Given the description of an element on the screen output the (x, y) to click on. 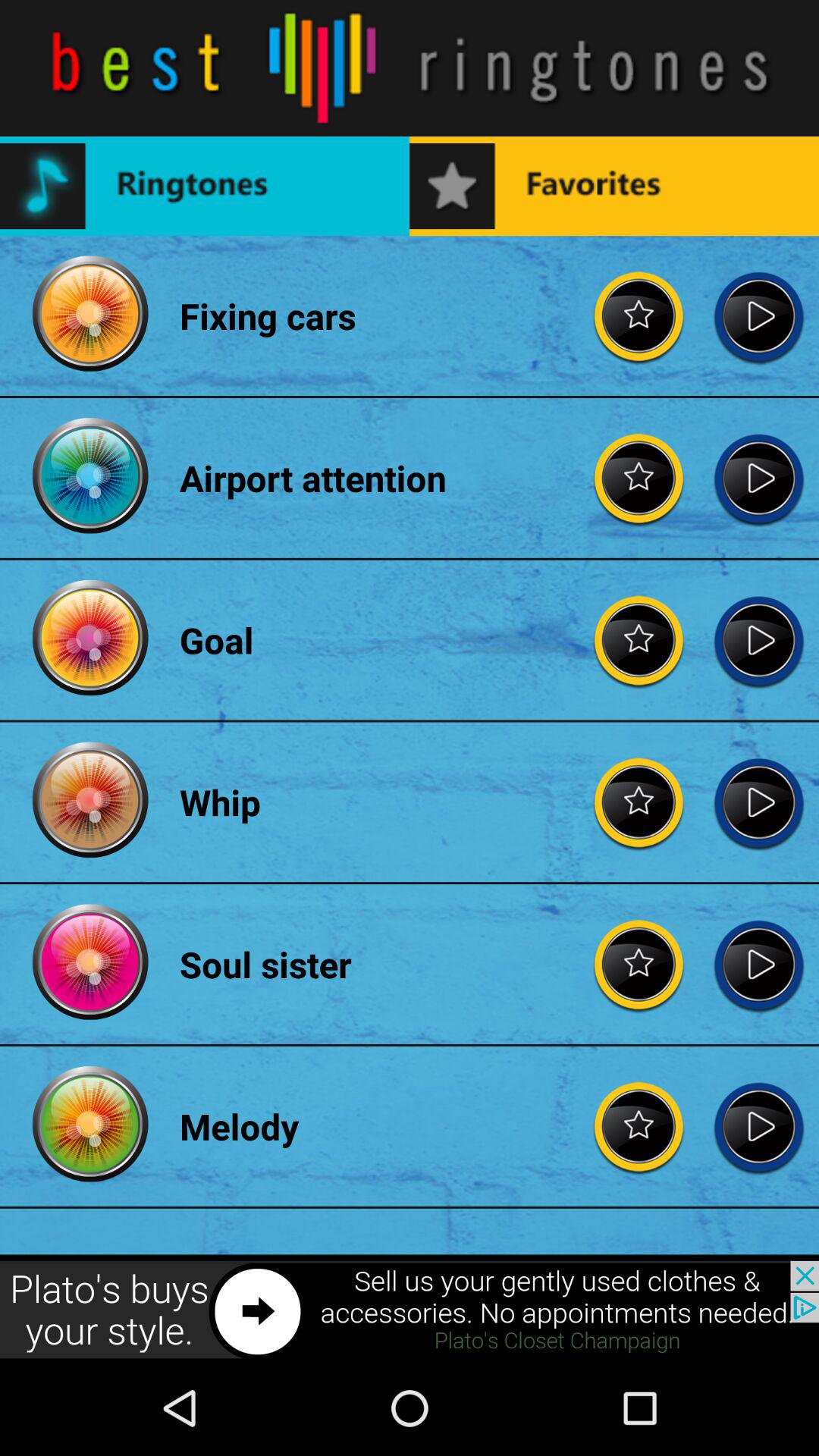
add icone (409, 1310)
